Given the description of an element on the screen output the (x, y) to click on. 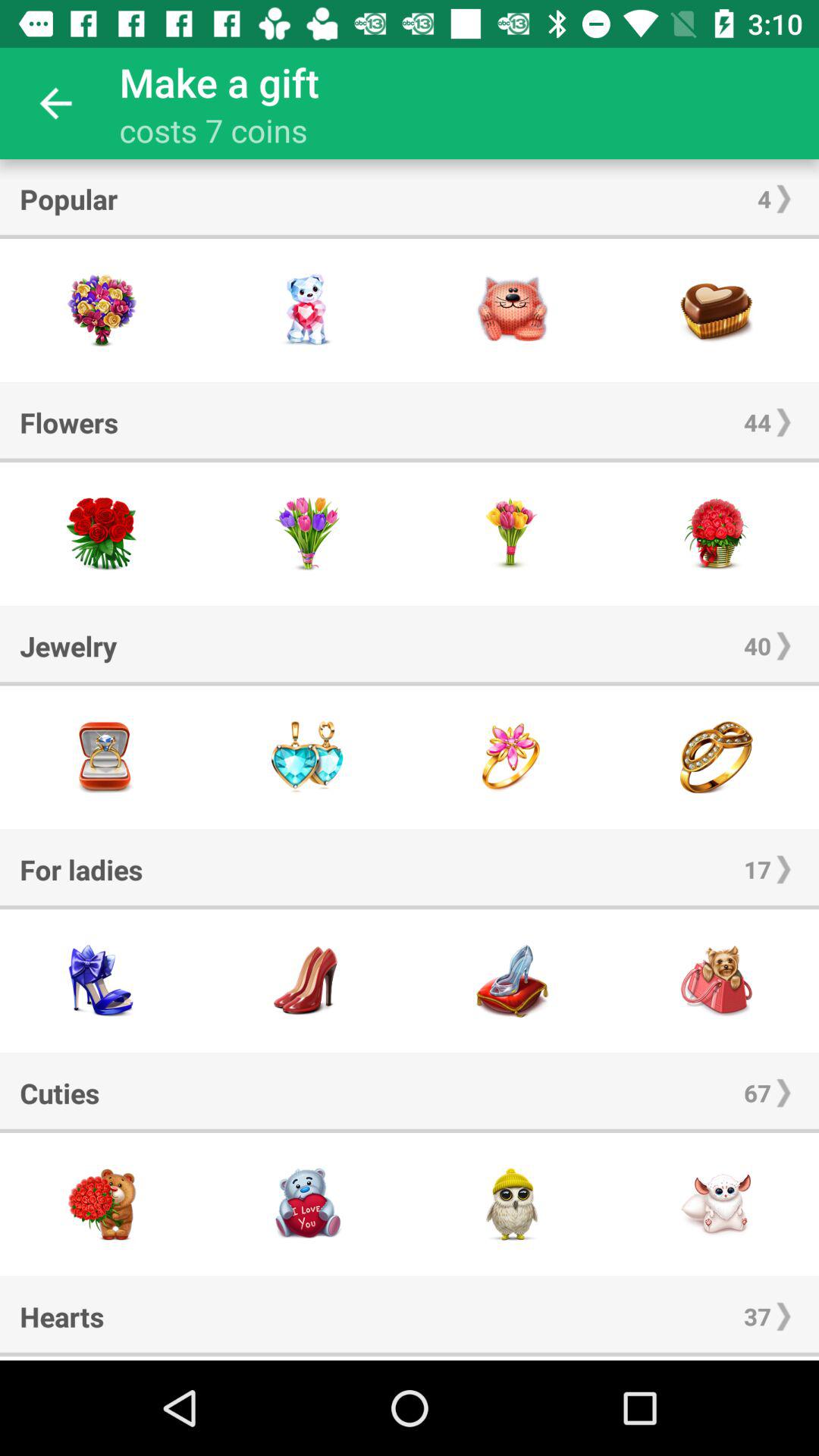
select this item (306, 310)
